Given the description of an element on the screen output the (x, y) to click on. 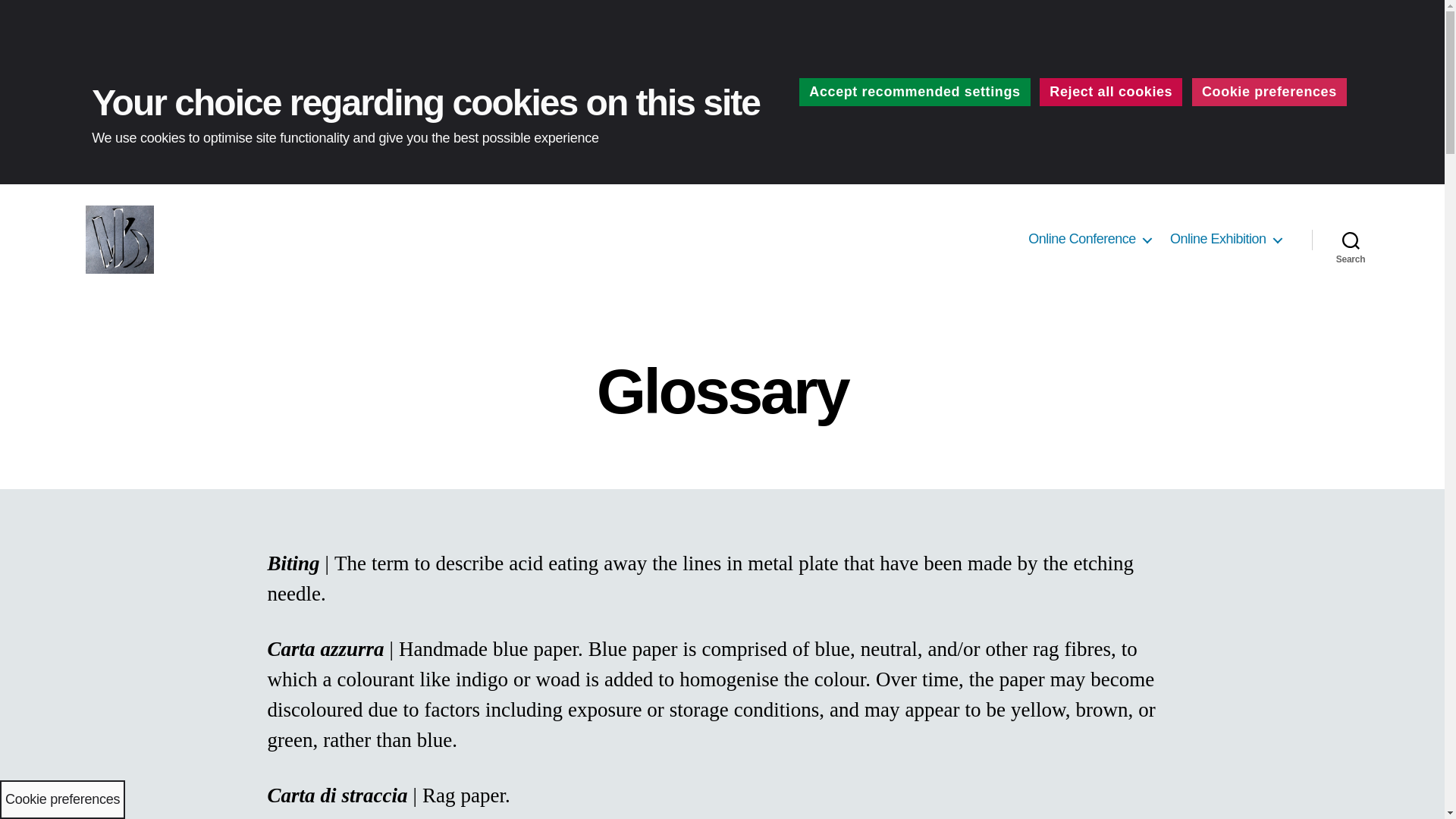
Online Conference (1089, 239)
Accept recommended settings (914, 91)
Reject all cookies (1110, 91)
Online Exhibition (1225, 239)
Search (1350, 239)
Cookie preferences (1269, 91)
